Given the description of an element on the screen output the (x, y) to click on. 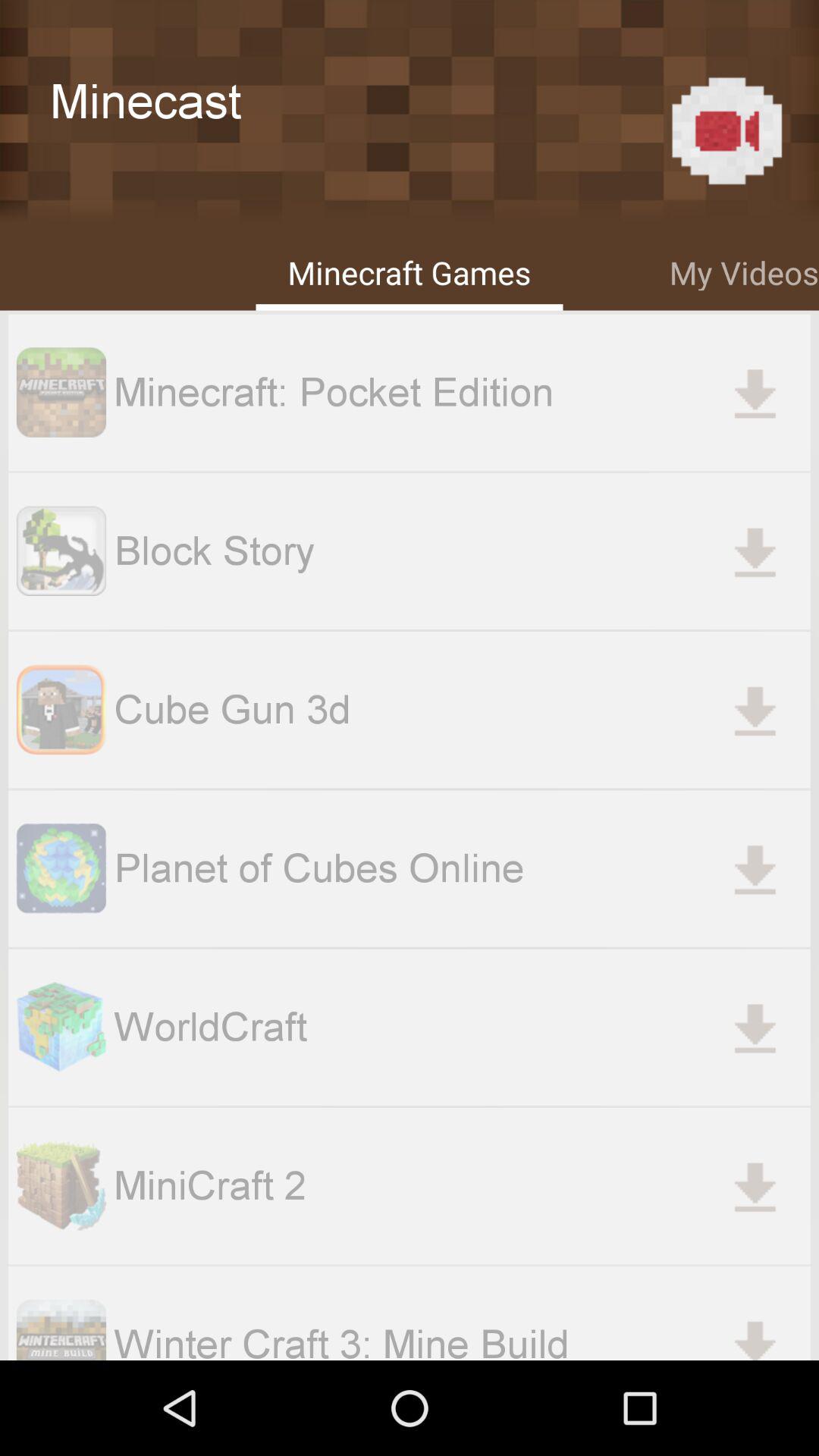
tap the cube gun 3d item (462, 709)
